Given the description of an element on the screen output the (x, y) to click on. 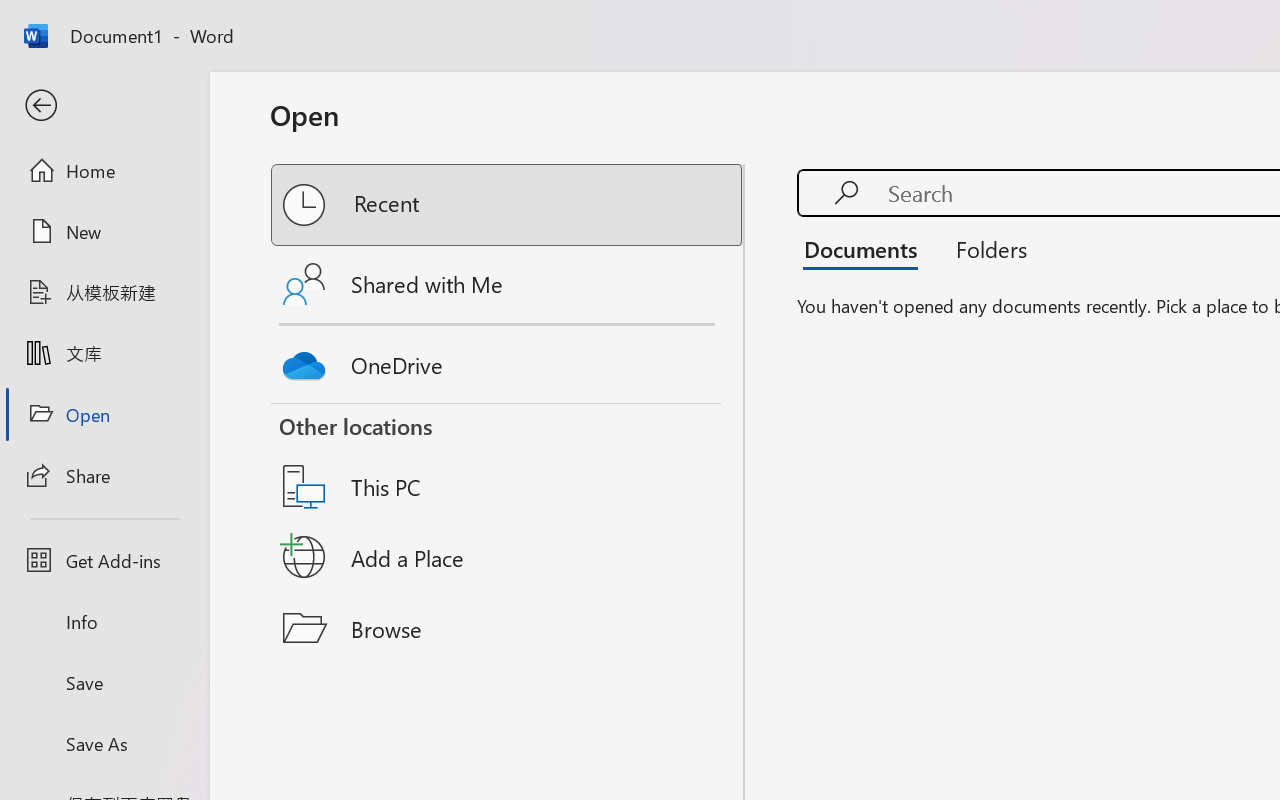
Add a Place (507, 557)
Info (104, 621)
Back (104, 106)
OneDrive (507, 359)
This PC (507, 461)
Save As (104, 743)
Folders (984, 248)
New (104, 231)
Recent (507, 205)
Shared with Me (507, 283)
Browse (507, 627)
